Given the description of an element on the screen output the (x, y) to click on. 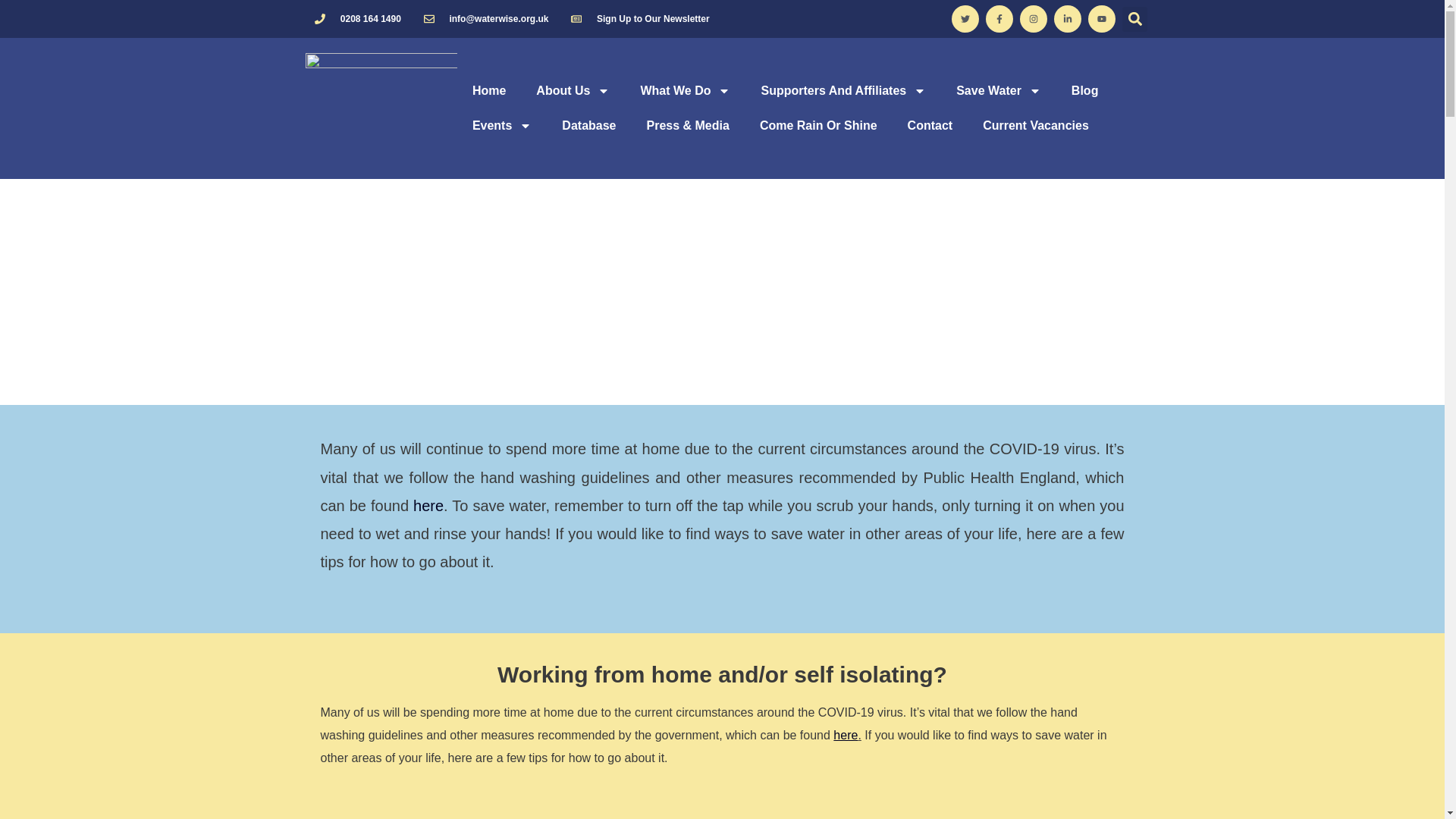
0208 164 1490 (357, 18)
Supporters And Affiliates (842, 90)
Save Water (998, 90)
What We Do (684, 90)
Home (489, 90)
About Us (572, 90)
Sign Up to Our Newsletter (639, 18)
